Given the description of an element on the screen output the (x, y) to click on. 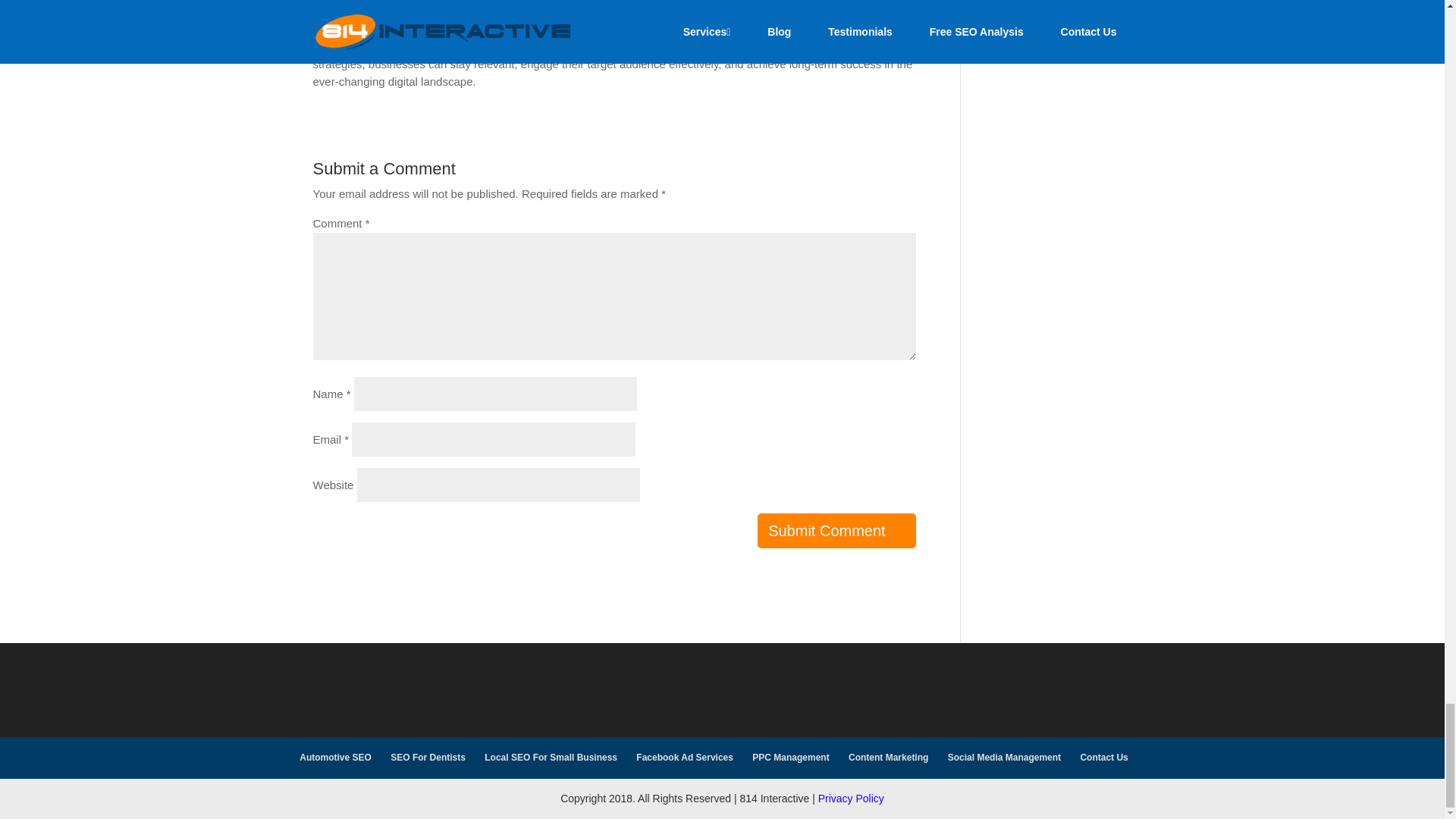
Facebook Ad Services (684, 757)
SEO For Dentists (427, 757)
PPC Management (790, 757)
Submit Comment (836, 530)
Content Marketing (888, 757)
Automotive SEO (335, 757)
Submit Comment (836, 530)
Local SEO For Small Business (550, 757)
